Given the description of an element on the screen output the (x, y) to click on. 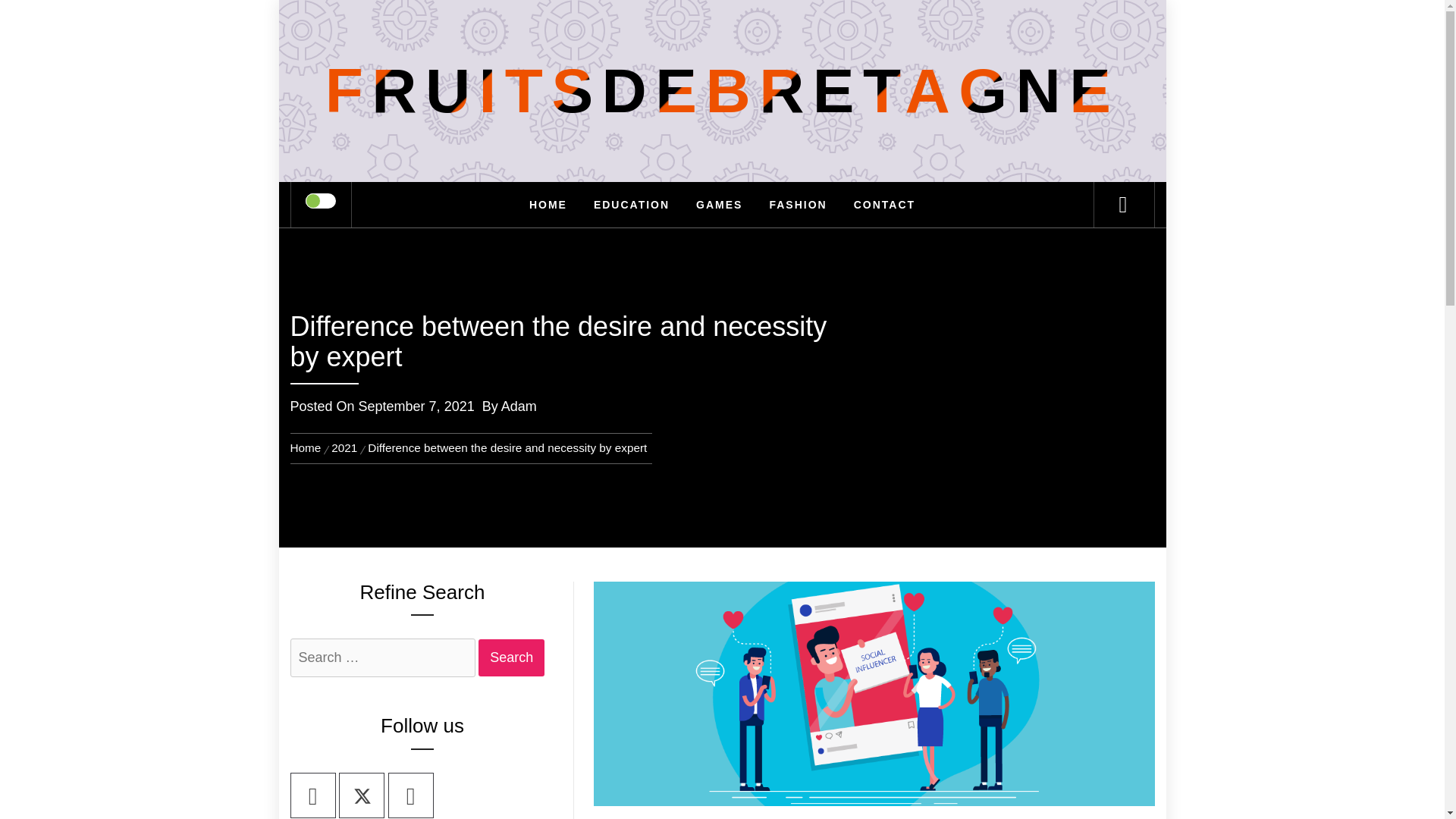
EDUCATION (631, 204)
September 7, 2021 (416, 406)
CONTACT (884, 204)
GAMES (719, 204)
Adam (518, 406)
2021 (344, 447)
FASHION (797, 204)
FRUITSDEBRETAGNE (721, 90)
Search (511, 657)
Search (511, 657)
Home (307, 447)
HOME (548, 204)
Search (511, 657)
Search (797, 33)
